Given the description of an element on the screen output the (x, y) to click on. 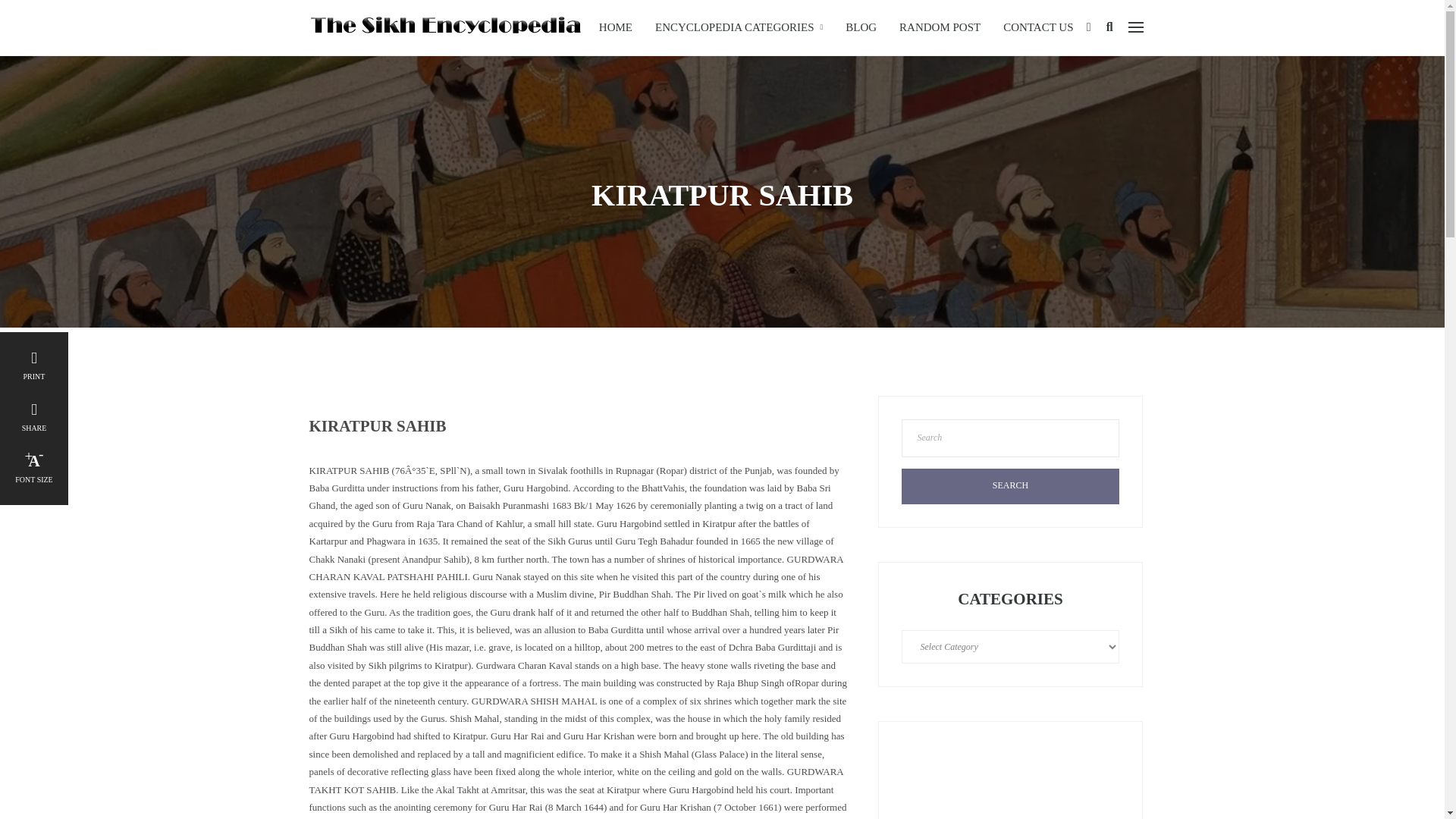
HOME (615, 27)
Advertisement (1010, 781)
RANDOM POST (939, 27)
The Sikh Encyclopedia (443, 25)
Login (1088, 27)
BLOG (861, 27)
CONTACT US (1037, 27)
ENCYCLOPEDIA CATEGORIES (738, 27)
